Given the description of an element on the screen output the (x, y) to click on. 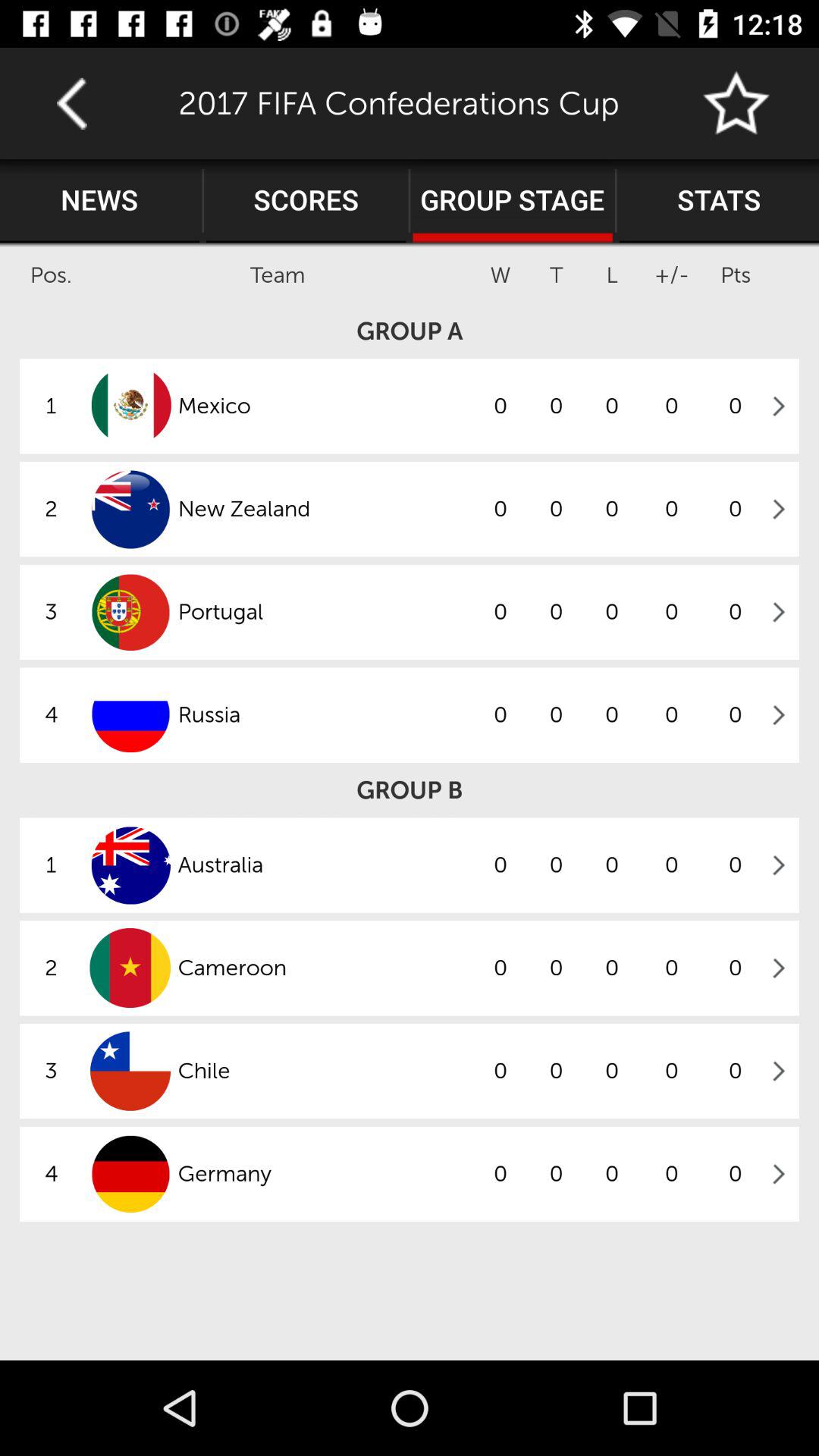
tap icon next to 2017 fifa confederations (736, 103)
